Given the description of an element on the screen output the (x, y) to click on. 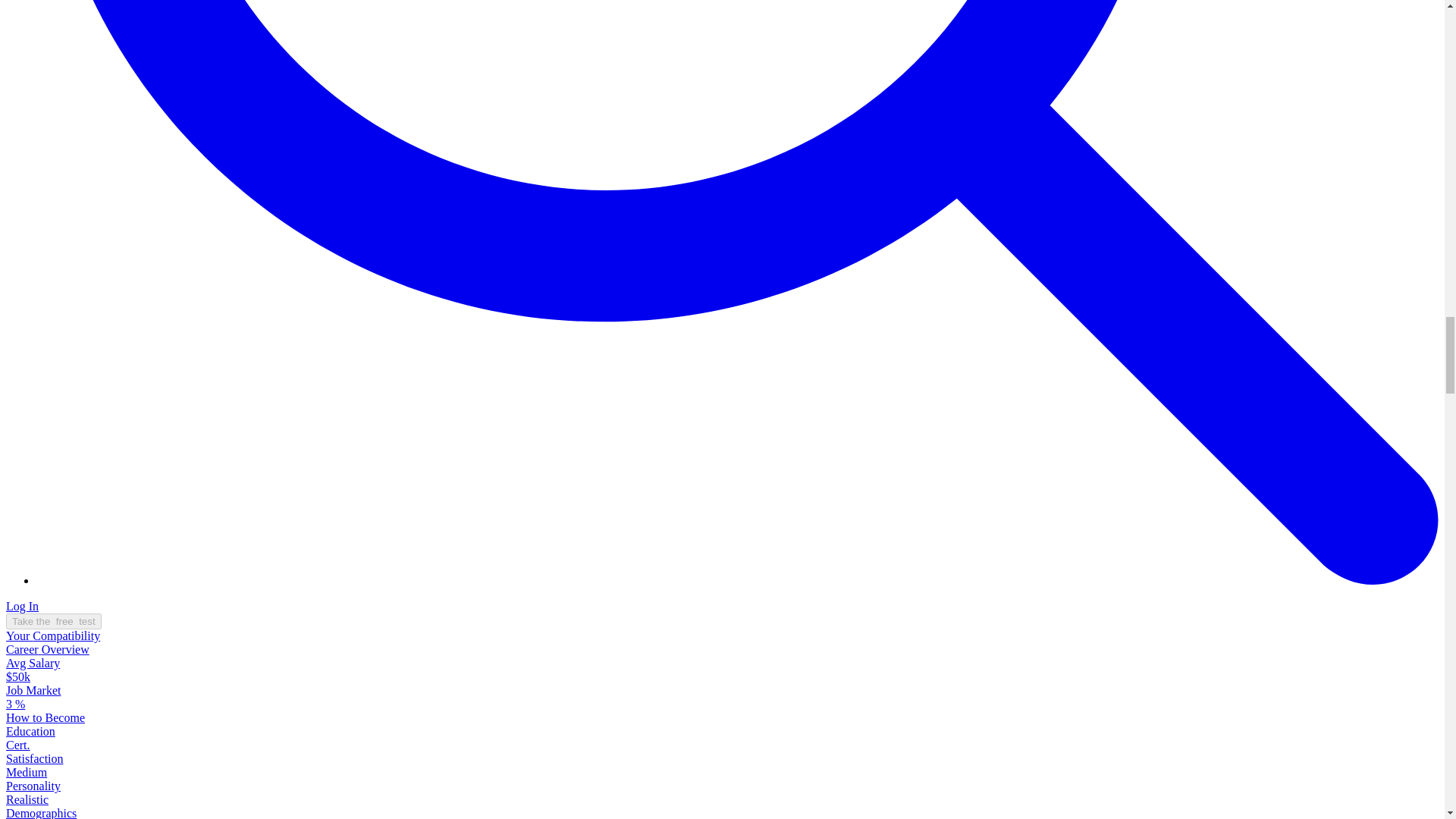
Take the  free  test (53, 621)
Log In (22, 605)
